Given the description of an element on the screen output the (x, y) to click on. 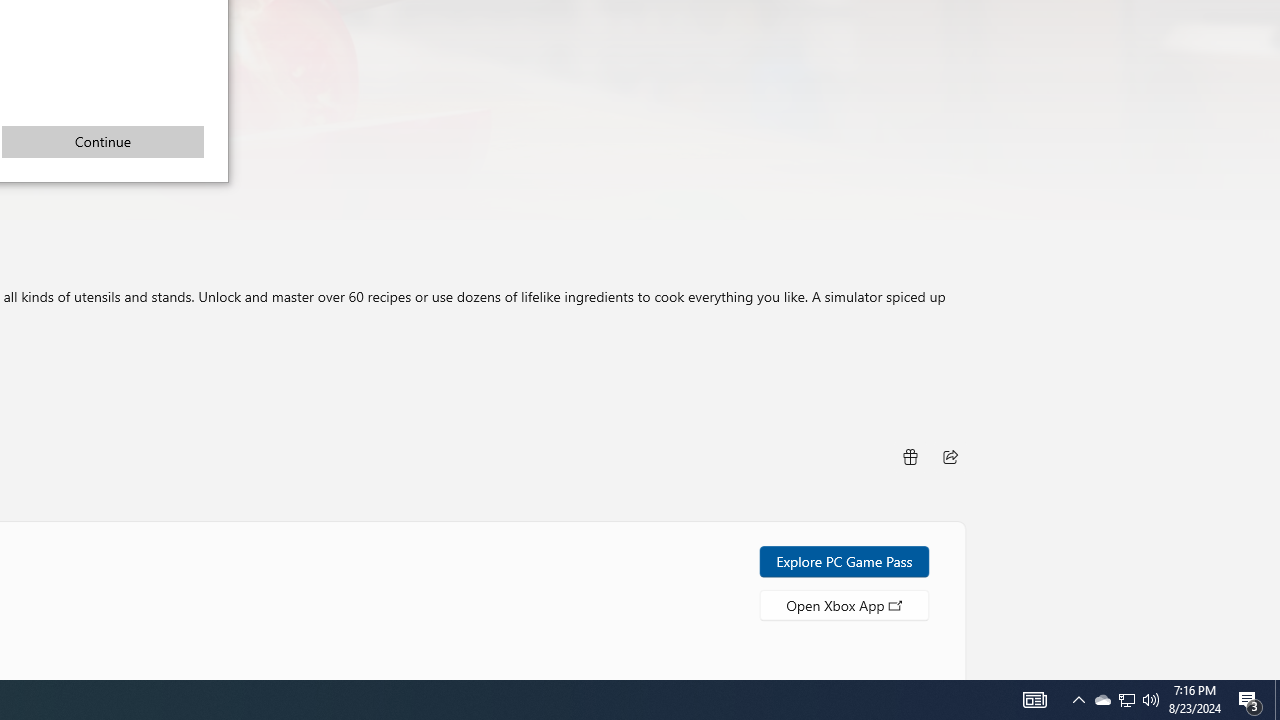
Open Xbox App (844, 603)
Buy as gift (909, 456)
Share (1126, 699)
AutomationID: 4105 (1102, 699)
Q2790: 100% (950, 456)
Action Center, 3 new notifications (1034, 699)
User Promoted Notification Area (1151, 699)
Show desktop (1250, 699)
Continue (1126, 699)
Vertical Small Increase (1277, 699)
Explore PC Game Pass (102, 141)
Notification Chevron (1272, 672)
